Given the description of an element on the screen output the (x, y) to click on. 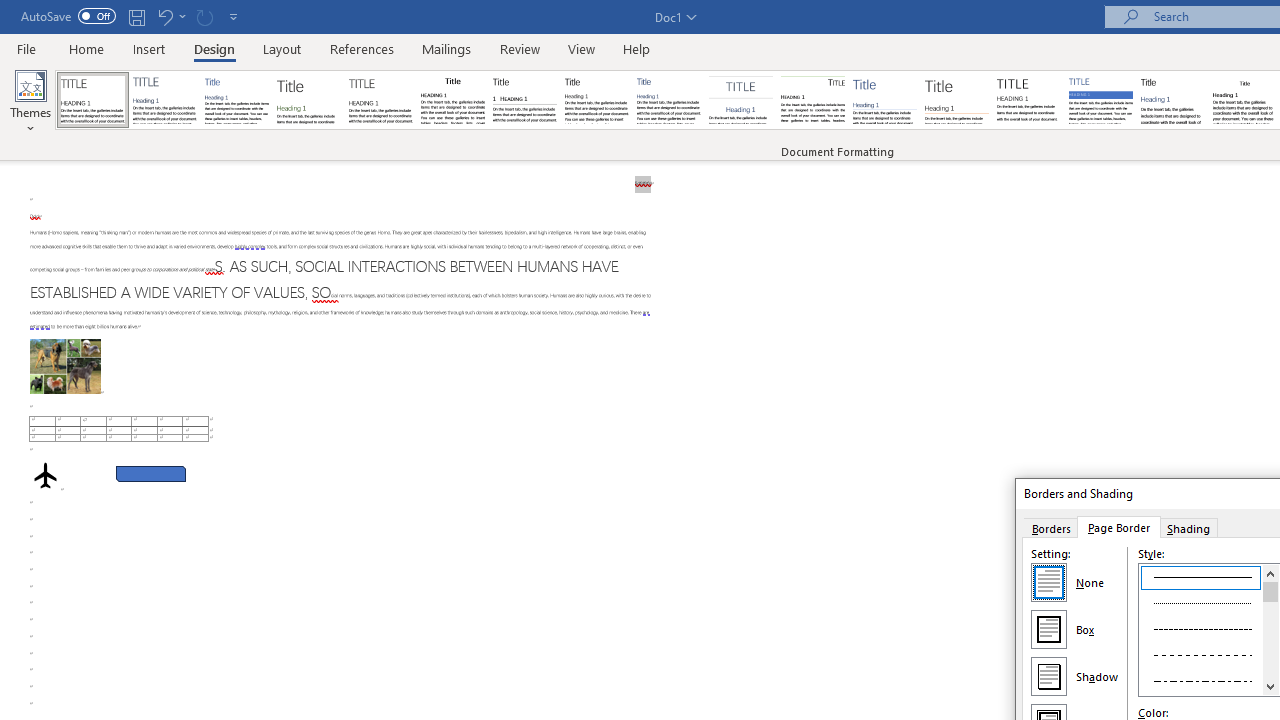
Can't Repeat (204, 15)
Themes (30, 102)
Word (1172, 100)
Lines (Simple) (884, 100)
Page down (1270, 639)
Undo Paragraph Alignment (164, 15)
Lines (Stylish) (957, 100)
Basic (Simple) (236, 100)
None (1048, 582)
Box (1048, 628)
